Given the description of an element on the screen output the (x, y) to click on. 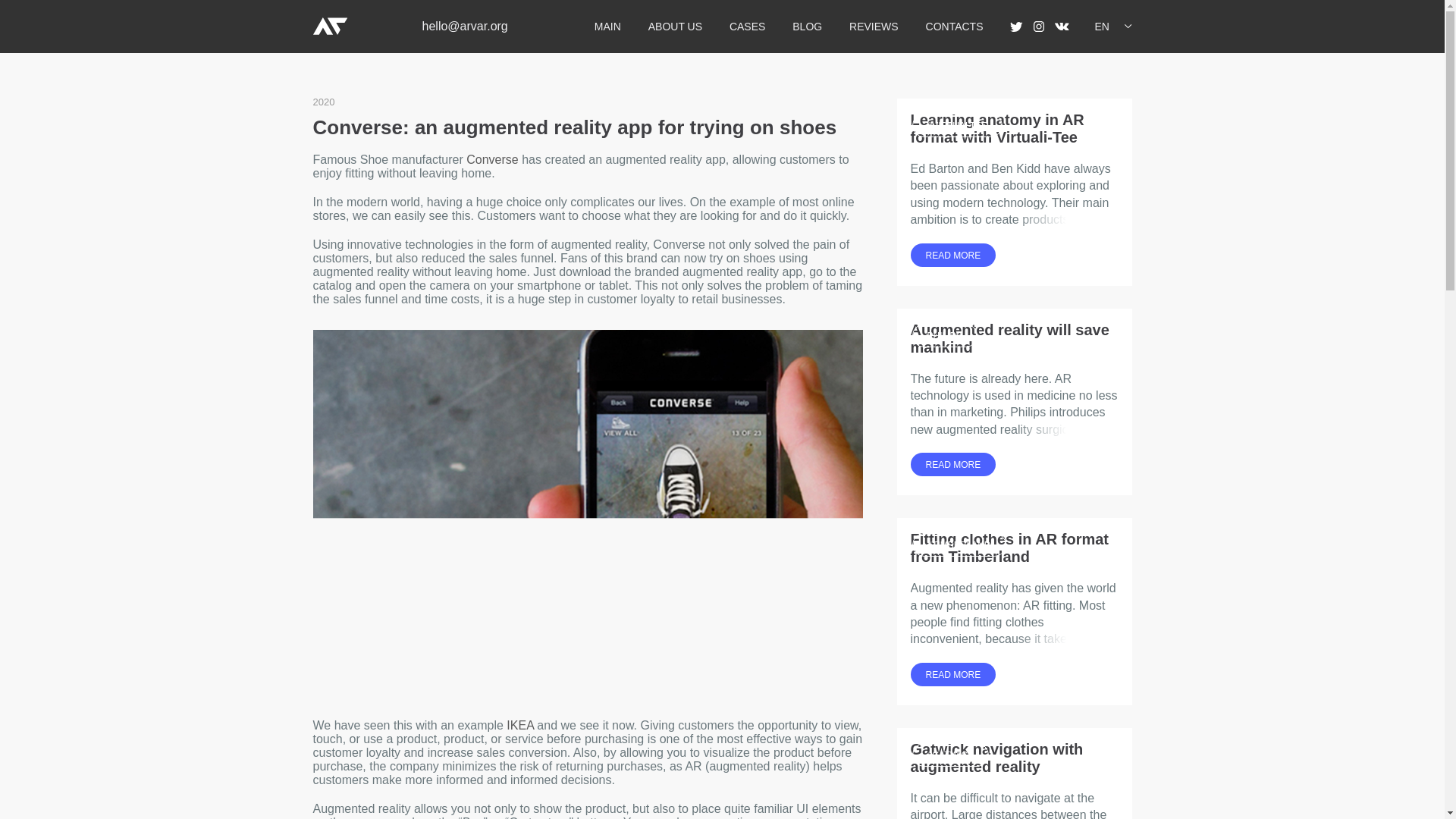
Converse (491, 159)
BLOG (807, 26)
EN (1108, 26)
READ MORE (952, 254)
IKEA (520, 725)
READ MORE (952, 674)
MAIN (607, 26)
READ MORE (952, 463)
CONTACTS (955, 26)
ABOUT US (674, 26)
CASES (747, 26)
REVIEWS (873, 26)
